Given the description of an element on the screen output the (x, y) to click on. 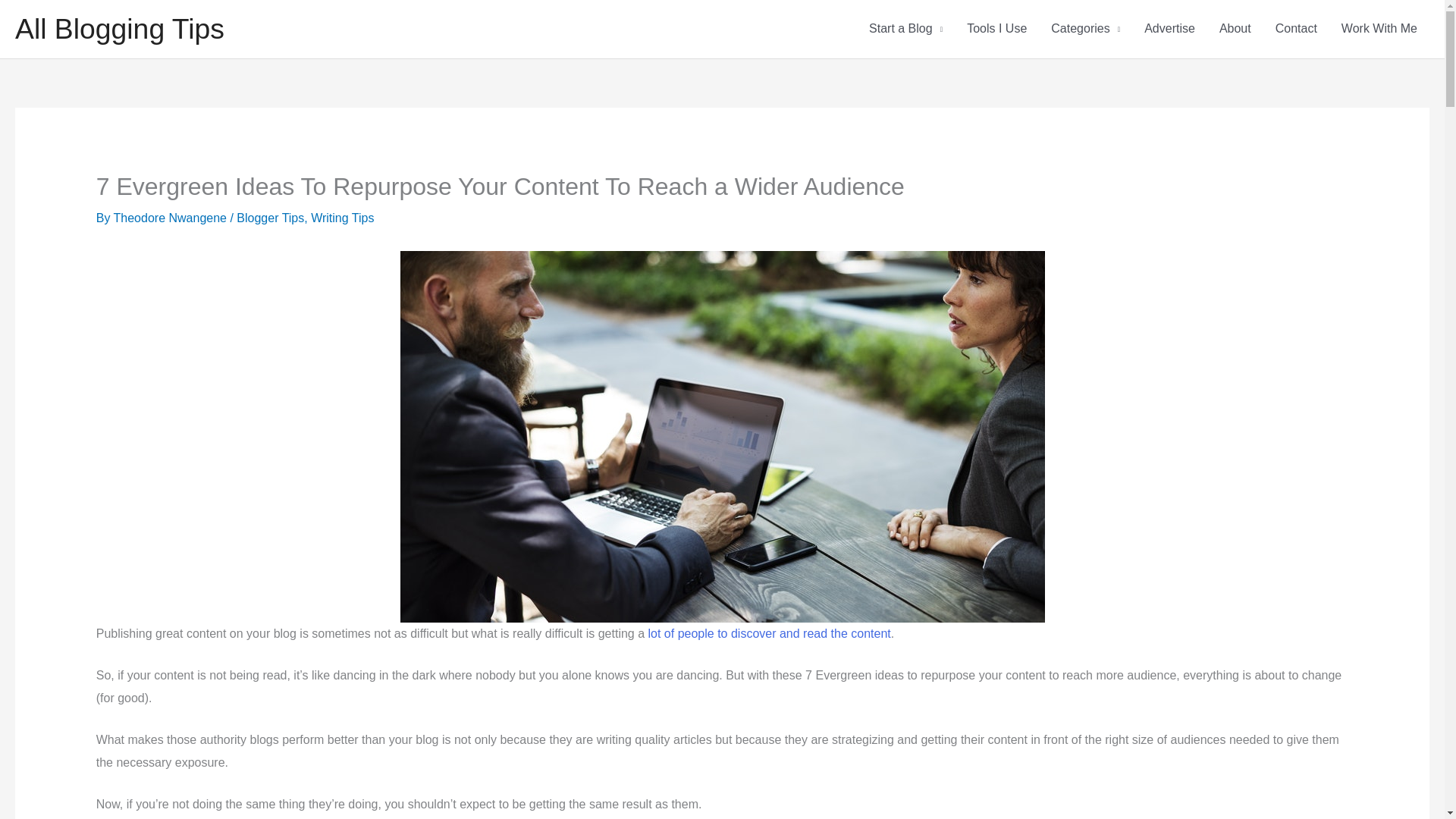
lot of people to discover and read the content (769, 633)
Work With Me (1379, 29)
All Blogging Tips (119, 29)
Start a Blog (906, 29)
Contact (1296, 29)
View all posts by Theodore Nwangene (171, 217)
Writing Tips (342, 217)
Categories (1085, 29)
About (1235, 29)
Advertise (1169, 29)
